Given the description of an element on the screen output the (x, y) to click on. 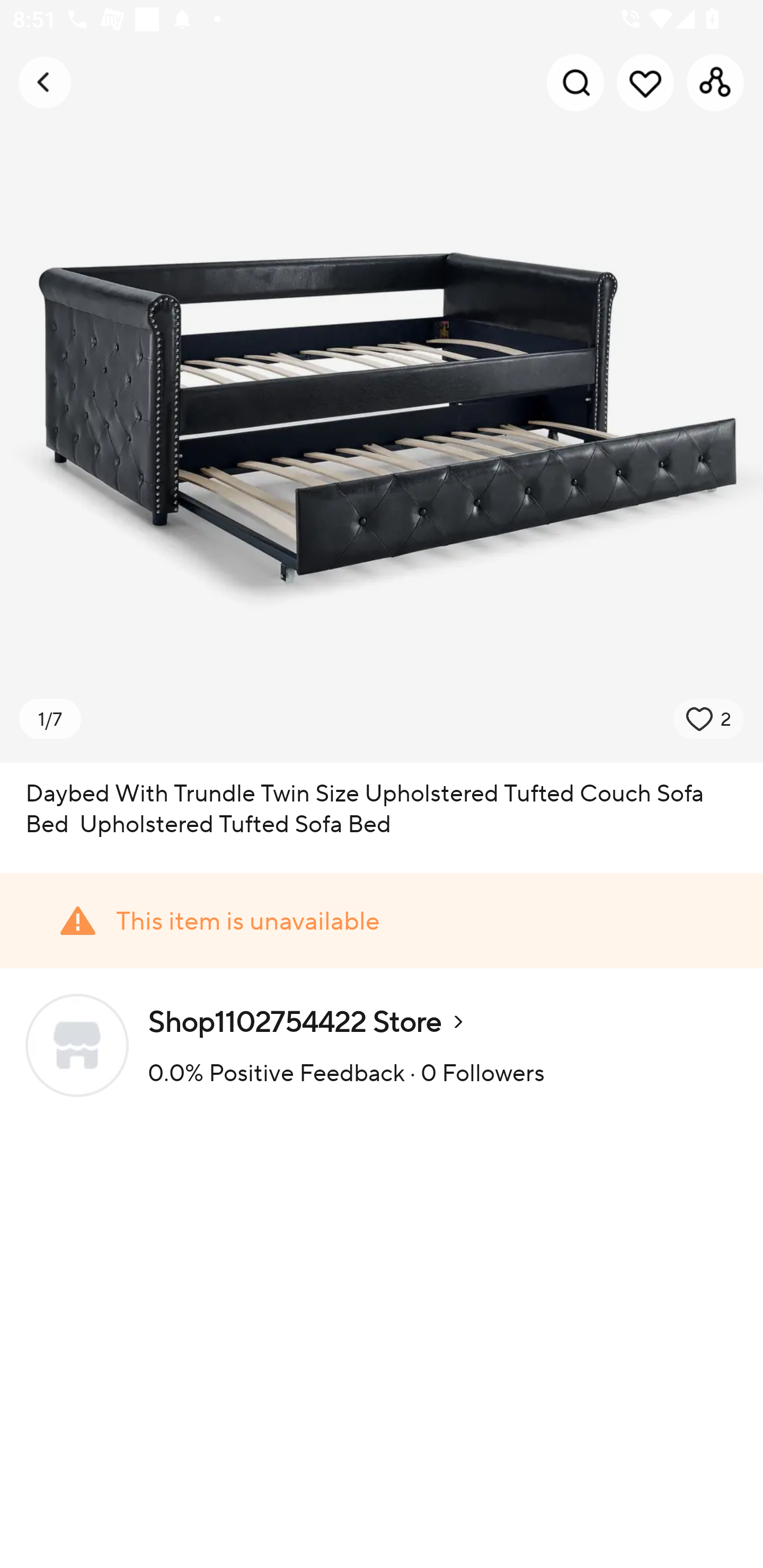
Navigate up (44, 82)
wish state 2 (708, 718)
